Given the description of an element on the screen output the (x, y) to click on. 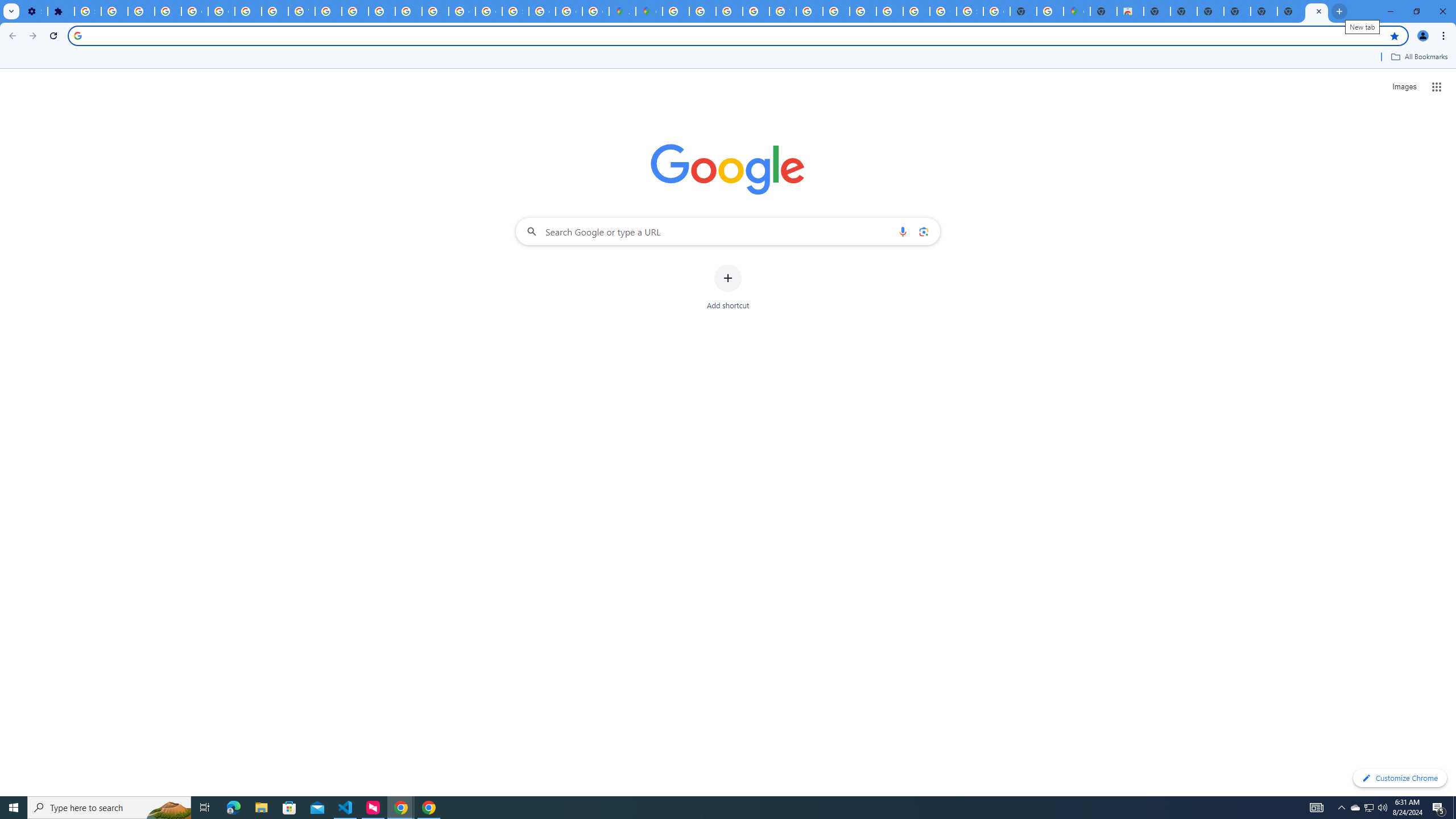
Address and search bar (735, 35)
Sign in - Google Accounts (515, 11)
New Tab (1316, 11)
Google Maps (649, 11)
All Bookmarks (1418, 56)
Create your Google Account (595, 11)
Bookmarks (728, 58)
Privacy Help Center - Policies Help (702, 11)
Add shortcut (727, 287)
Settings - On startup (34, 11)
Privacy Help Center - Policies Help (355, 11)
